Given the description of an element on the screen output the (x, y) to click on. 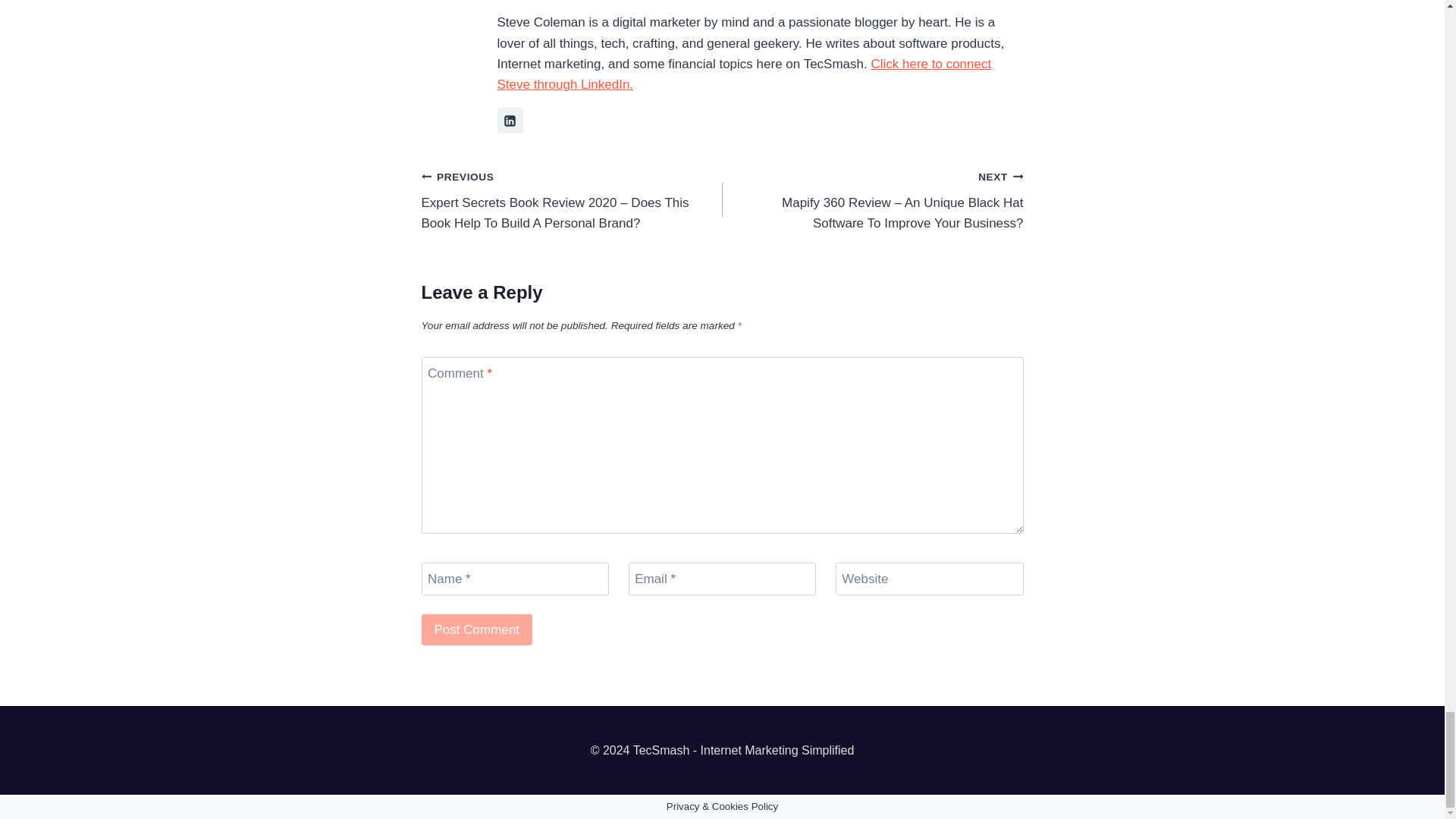
Follow Steve Coleman on Linkedin (509, 120)
Post Comment (477, 629)
Click here to connect Steve through LinkedIn. (744, 73)
Post Comment (477, 629)
